Given the description of an element on the screen output the (x, y) to click on. 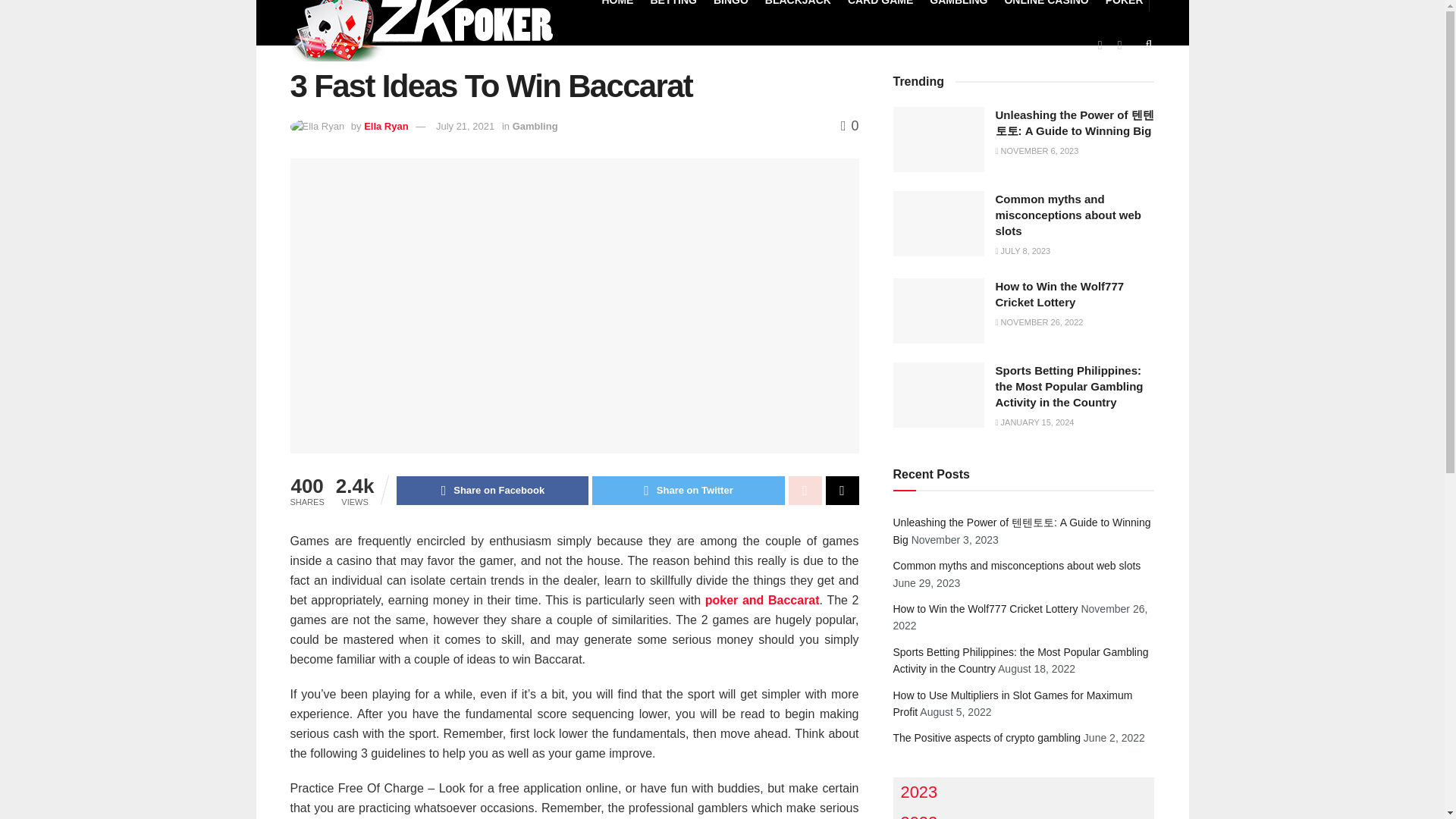
CARD GAME (879, 11)
July 21, 2021 (465, 125)
BLACKJACK (798, 11)
Ella Ryan (386, 125)
HOME (617, 11)
0 (850, 125)
Gambling (534, 125)
GAMBLING (958, 11)
Share on Twitter (688, 490)
BINGO (730, 11)
BETTING (672, 11)
POKER (1123, 11)
ONLINE CASINO (1045, 11)
poker and Baccarat (761, 599)
Share on Facebook (492, 490)
